Given the description of an element on the screen output the (x, y) to click on. 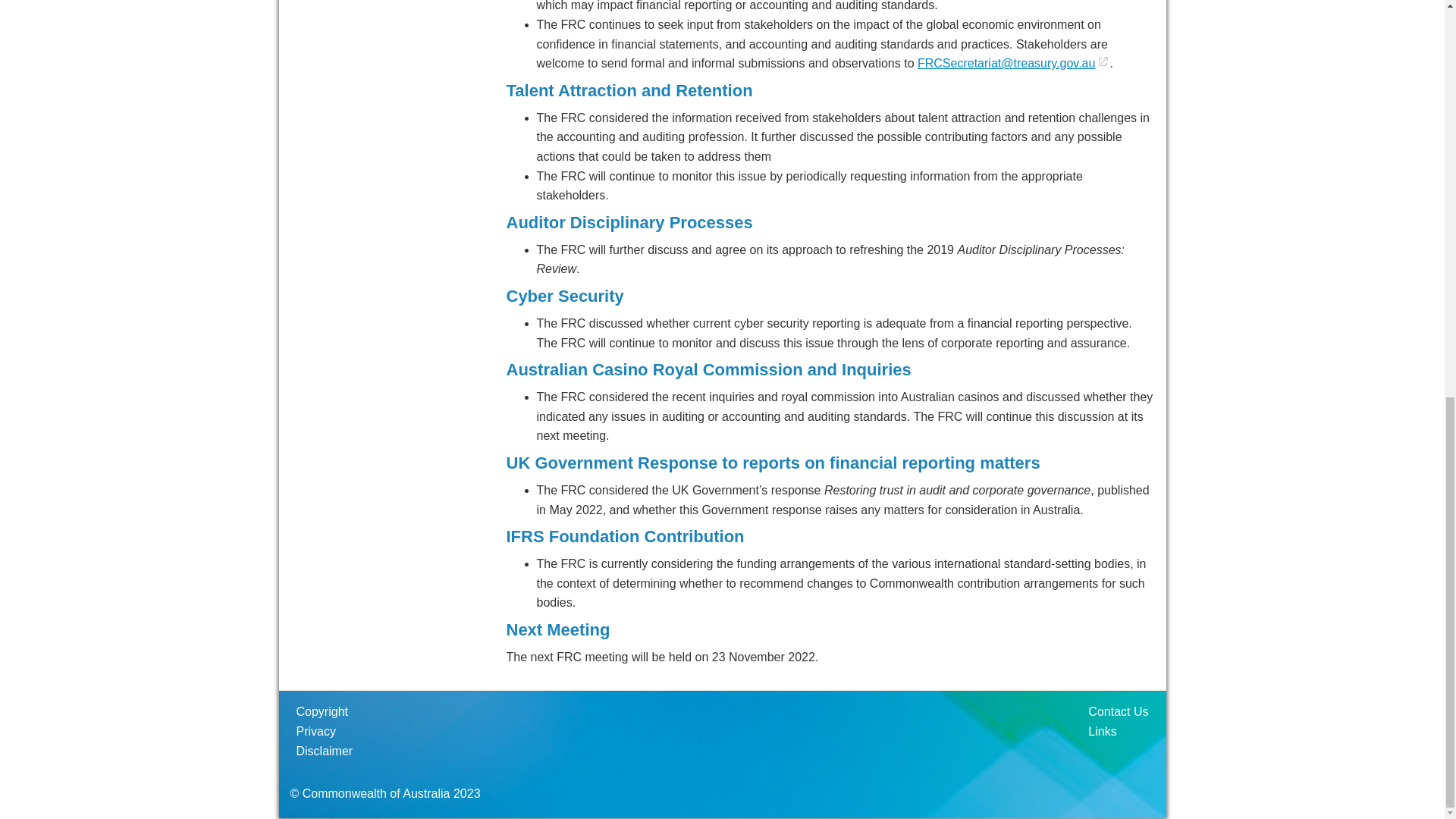
Disclaimer (323, 751)
Copyright (321, 711)
Contact Us (1117, 711)
Privacy (314, 731)
Links (1101, 731)
